Given the description of an element on the screen output the (x, y) to click on. 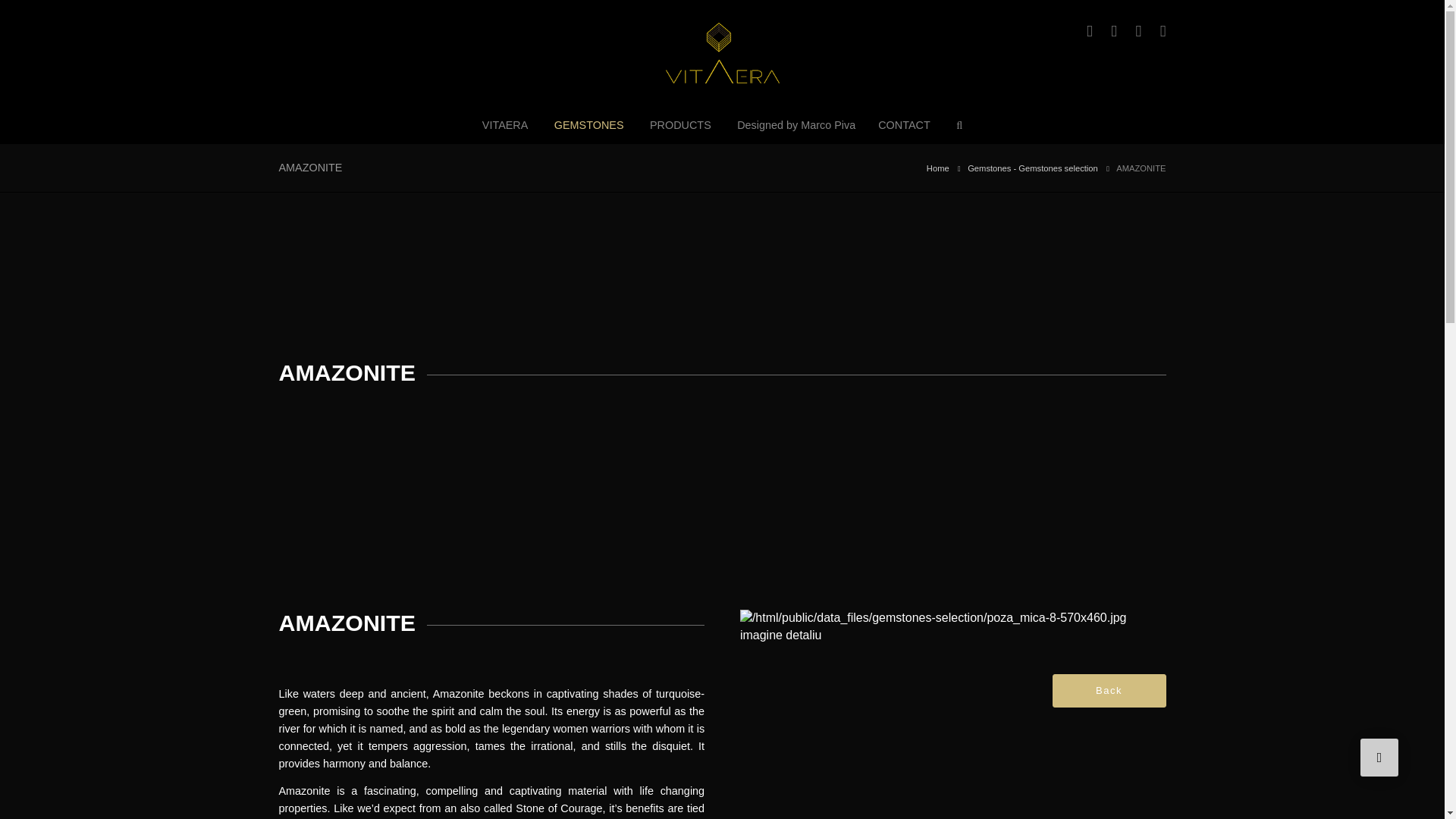
Home (937, 167)
Vitaera (505, 125)
PRODUCTS (680, 125)
Gemstones - Gemstones selection (1032, 167)
Linkedin Vitaera (1130, 30)
Back (1109, 690)
GEMSTONES (588, 125)
VITAERA (505, 125)
Instagram Vitaera (1106, 30)
WhatsApp Vitaera (1155, 30)
